Given the description of an element on the screen output the (x, y) to click on. 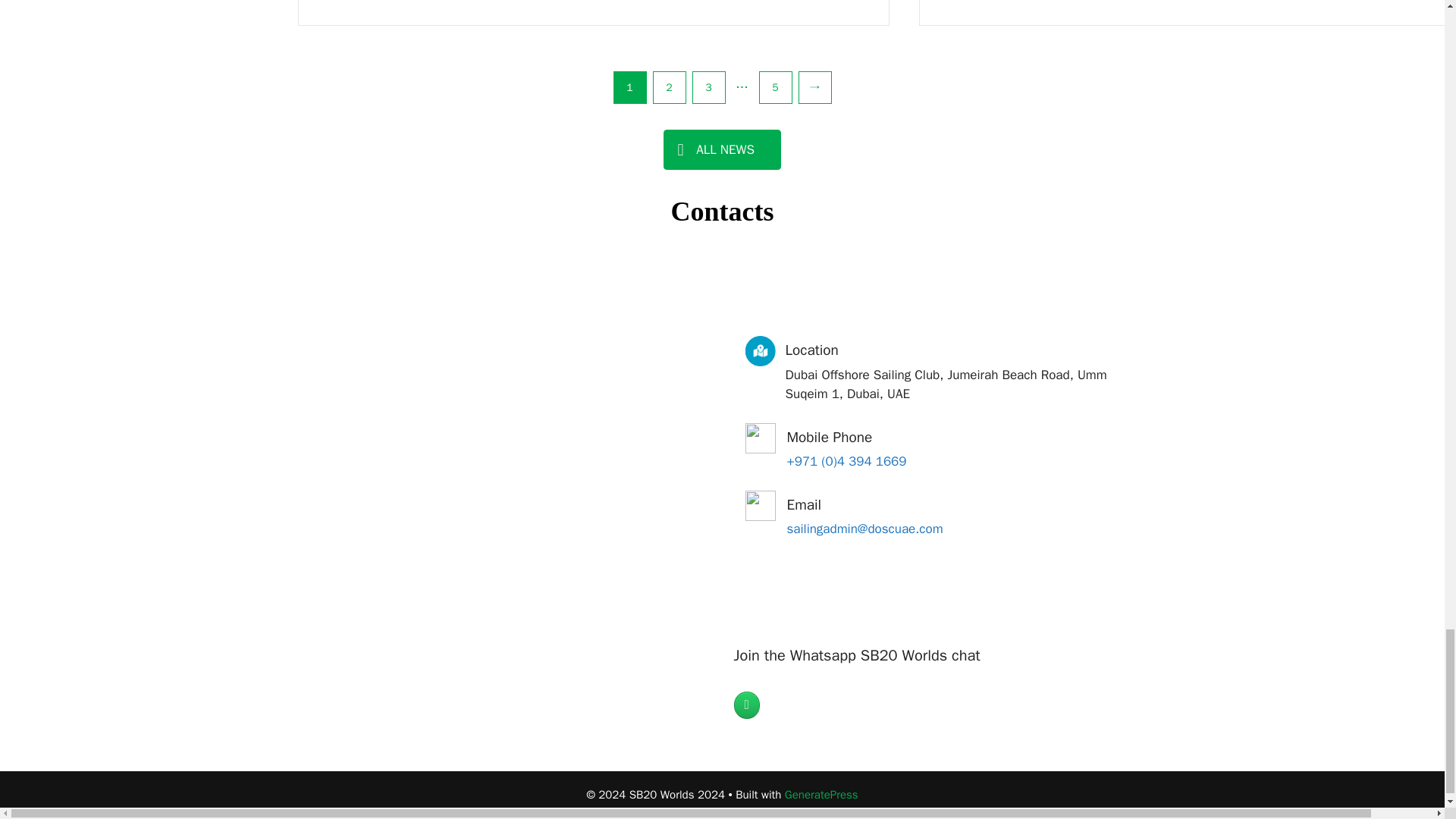
SB20 Worlds 2024 on Whatsapp (746, 705)
